Given the description of an element on the screen output the (x, y) to click on. 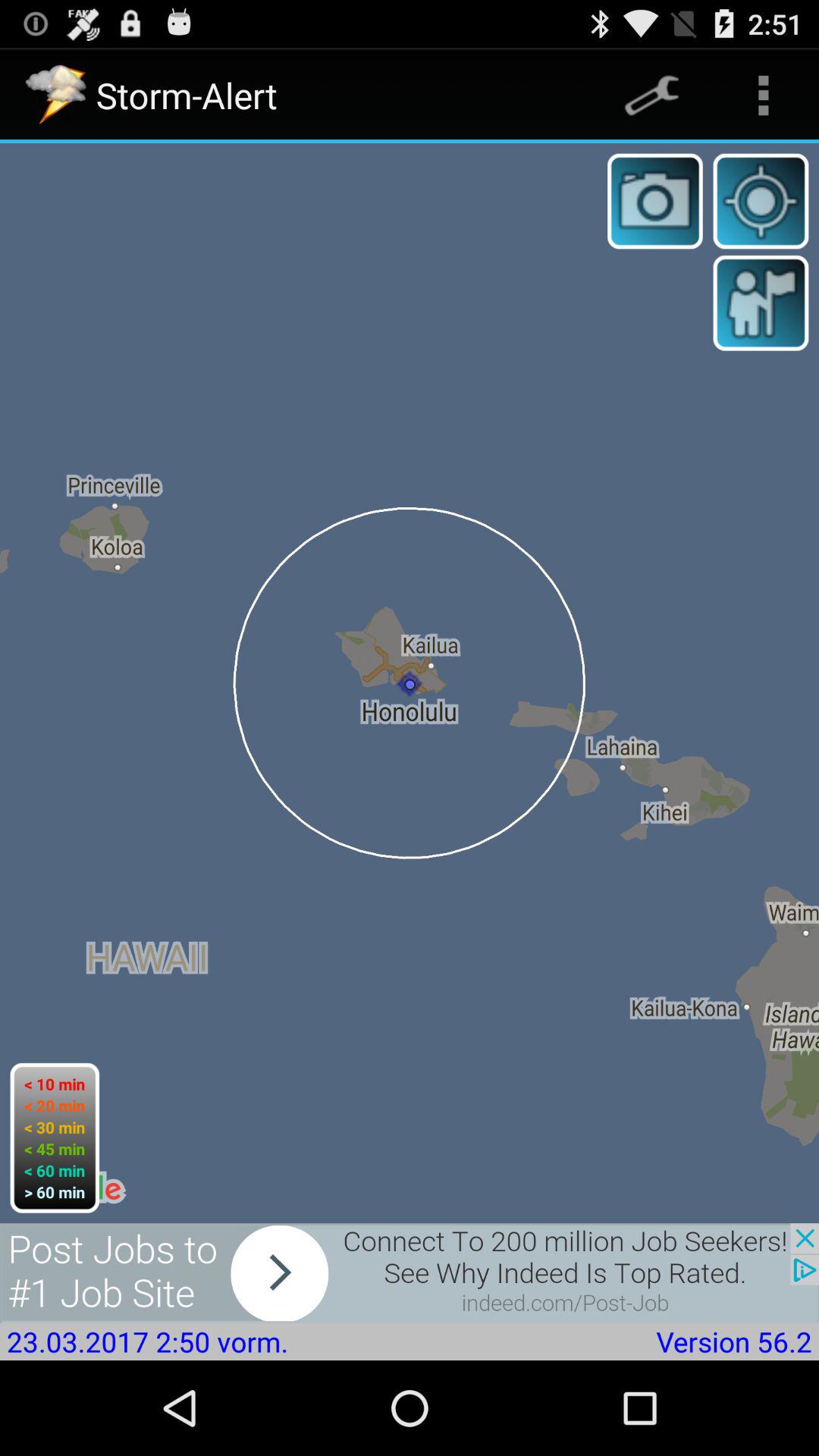
display current location (760, 201)
